Given the description of an element on the screen output the (x, y) to click on. 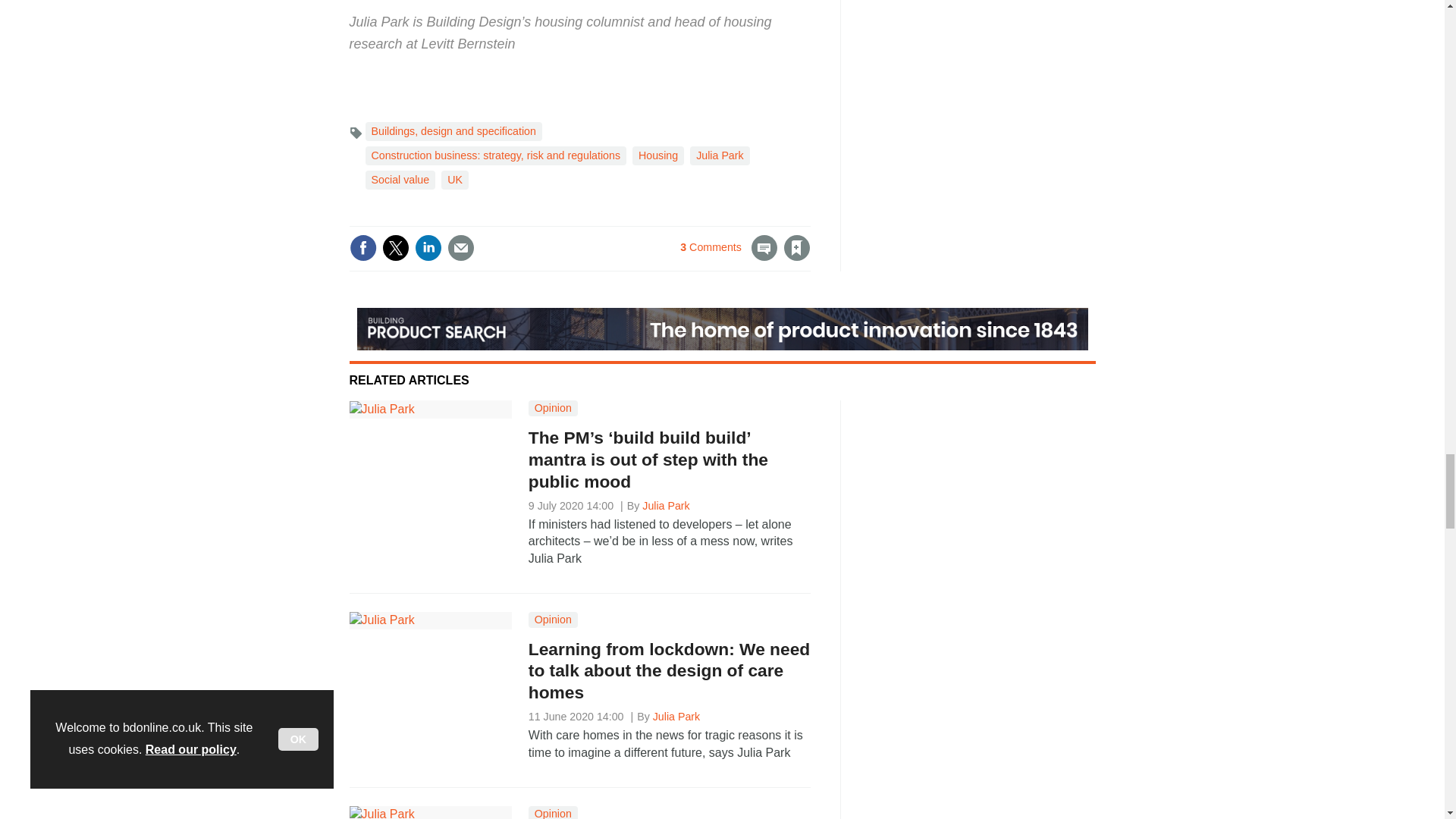
Share this on Facebook (362, 247)
3 Comments (728, 256)
Email this article (460, 247)
Share this on Linked in (427, 247)
Share this on Twitter (395, 247)
